Given the description of an element on the screen output the (x, y) to click on. 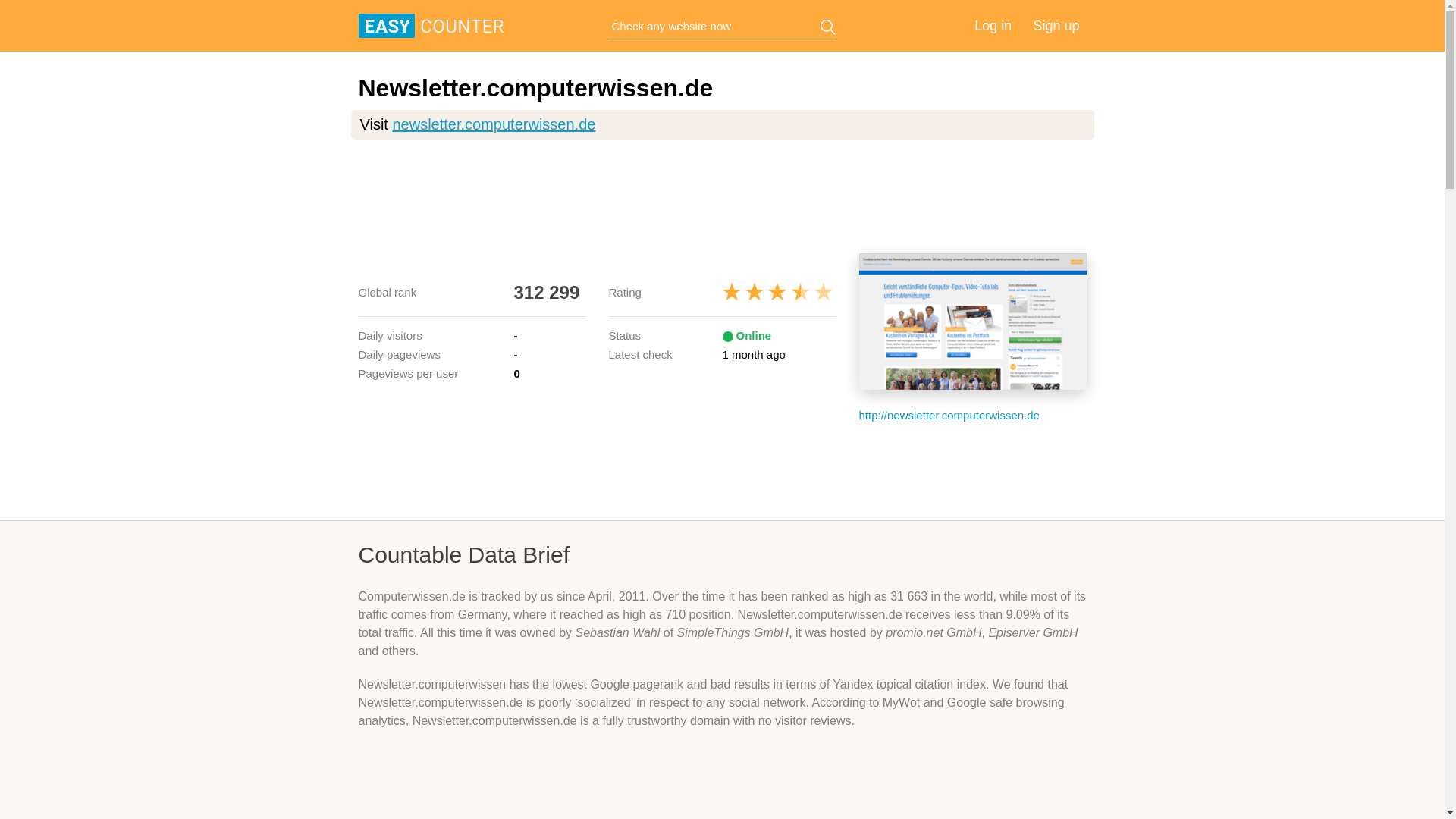
Advertisement (722, 785)
newsletter.computerwissen.de (493, 124)
Sign up (1056, 25)
Newsletter.computerwissen.de thumbnail (972, 321)
Advertisement (722, 196)
Log in (992, 25)
Advertisement (722, 470)
